Given the description of an element on the screen output the (x, y) to click on. 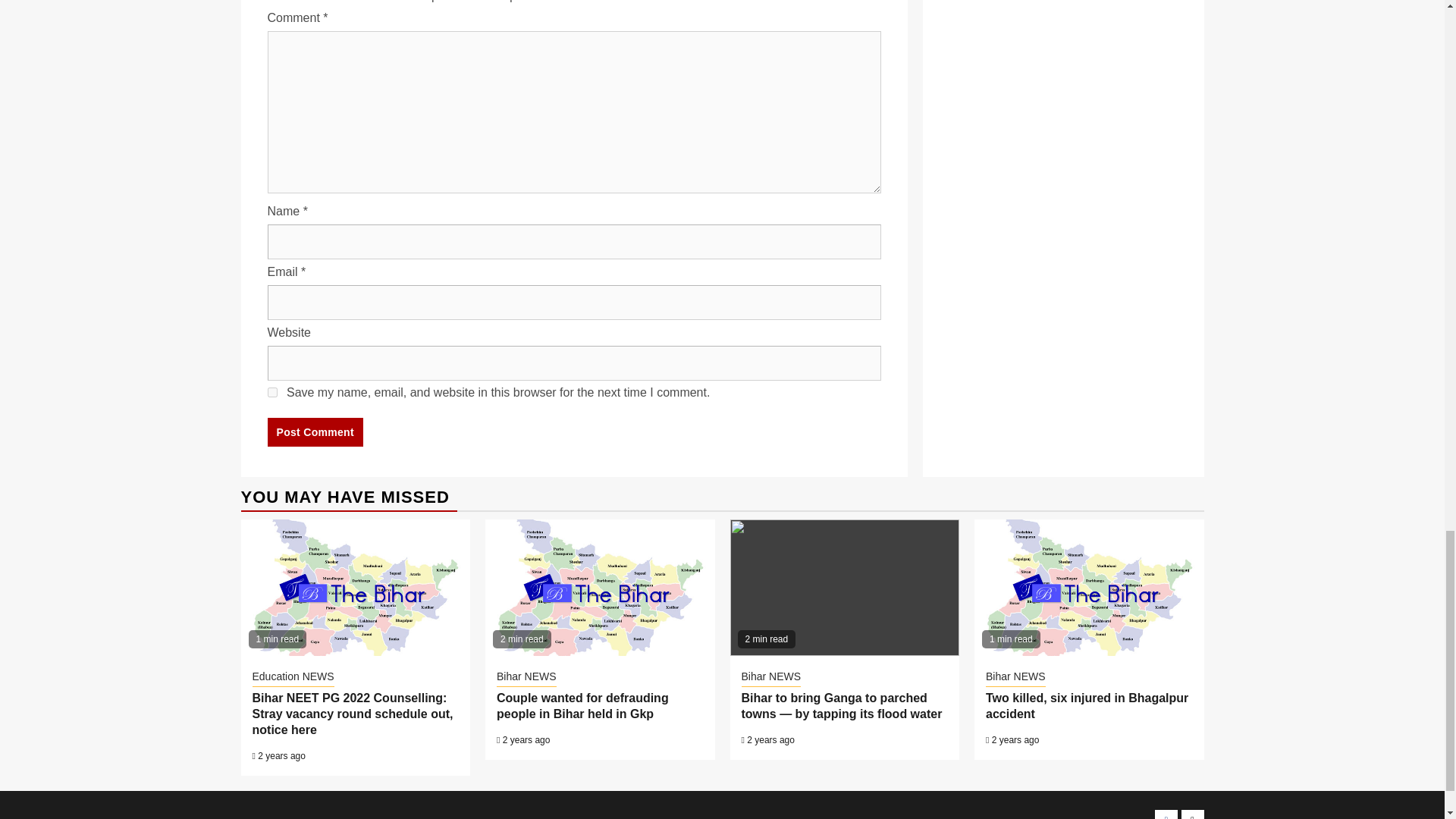
yes (271, 392)
Post Comment (314, 431)
